Given the description of an element on the screen output the (x, y) to click on. 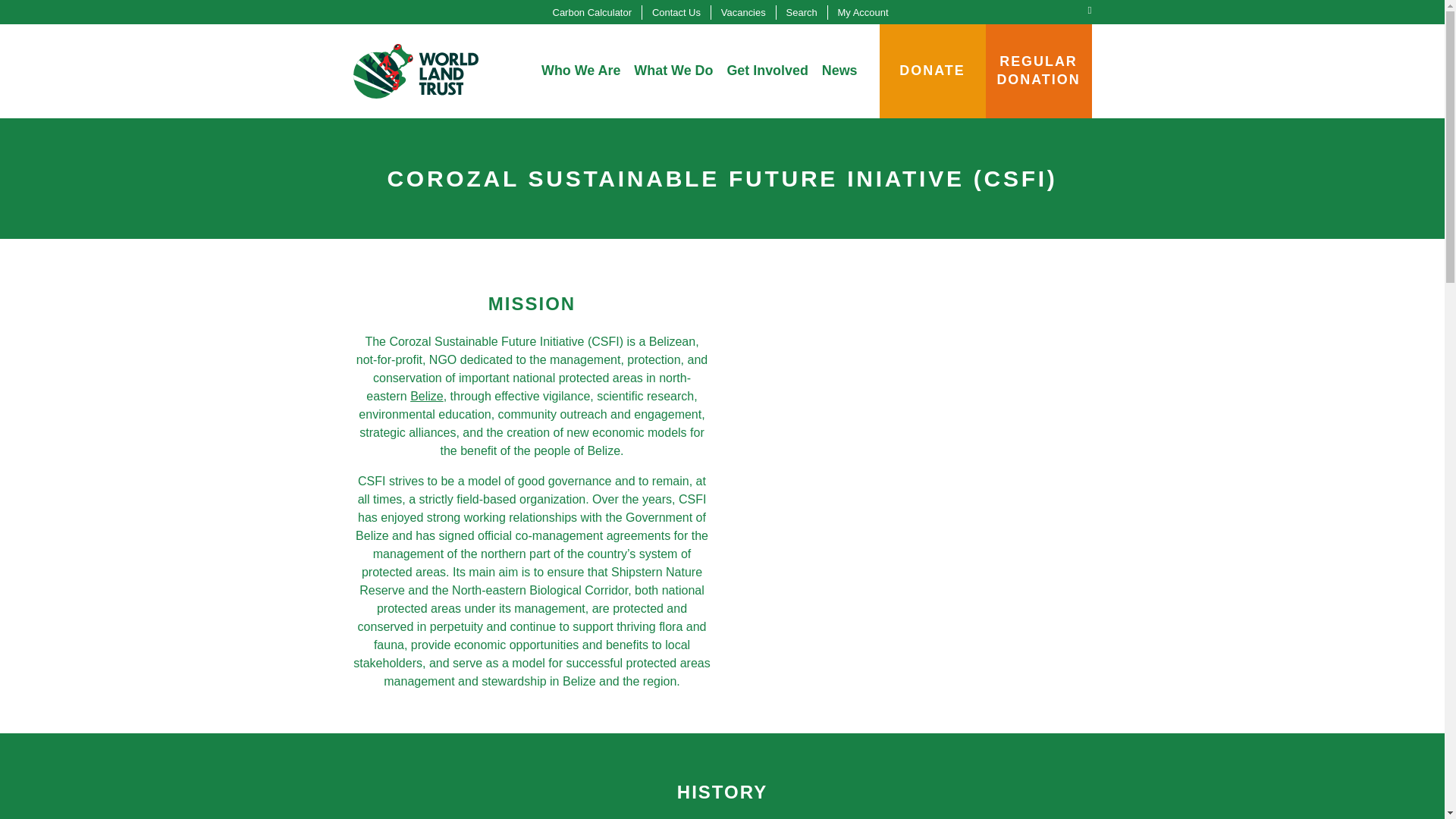
Contact Us (676, 11)
Carbon Calculator (592, 11)
Who We Are (580, 71)
What We Do (673, 71)
Vacancies (743, 11)
Search (802, 11)
My Account (863, 11)
News (839, 71)
DONATE (932, 70)
REGULAR DONATION (1038, 70)
